Given the description of an element on the screen output the (x, y) to click on. 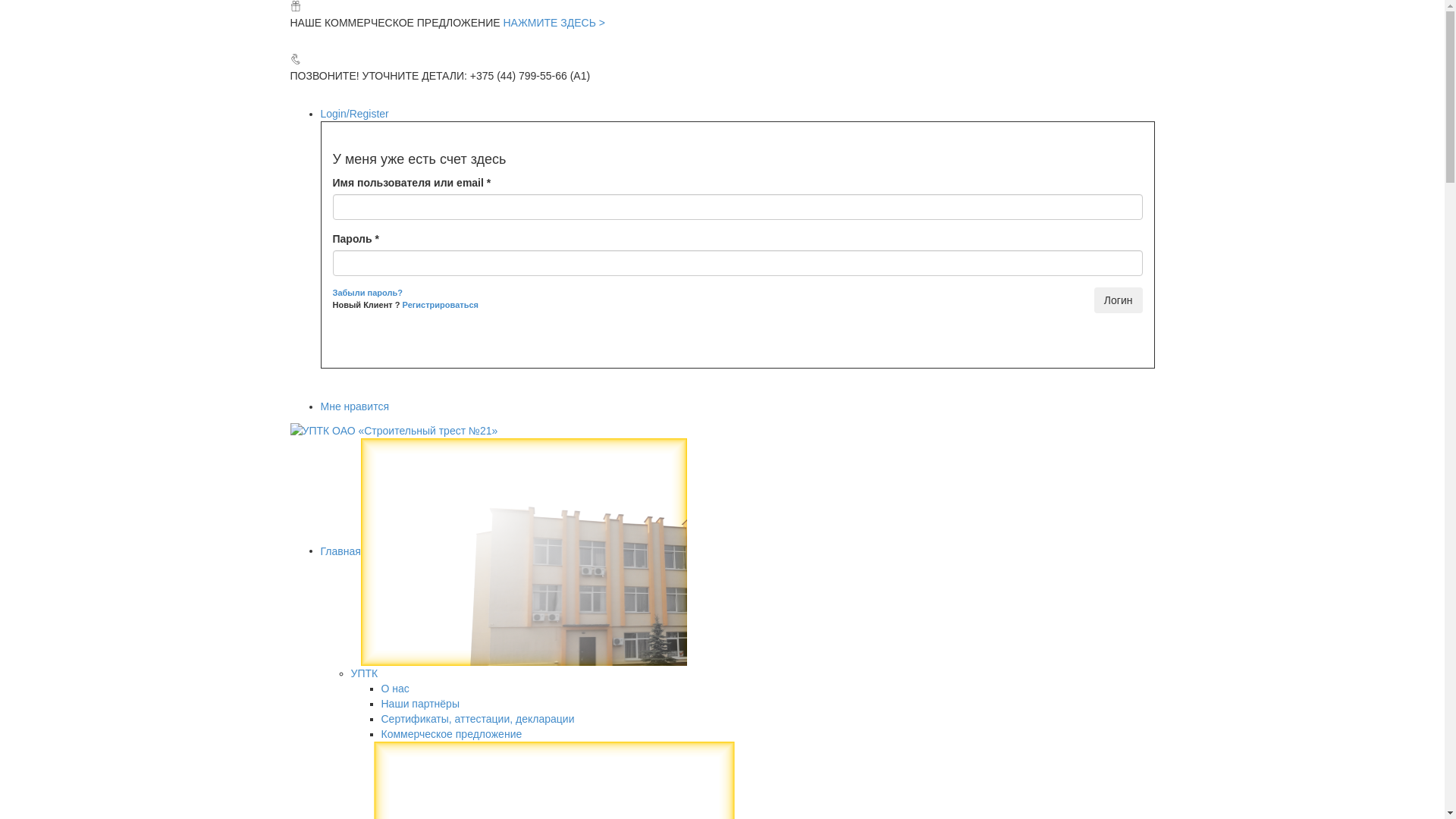
Login/Register Element type: text (354, 113)
